Given the description of an element on the screen output the (x, y) to click on. 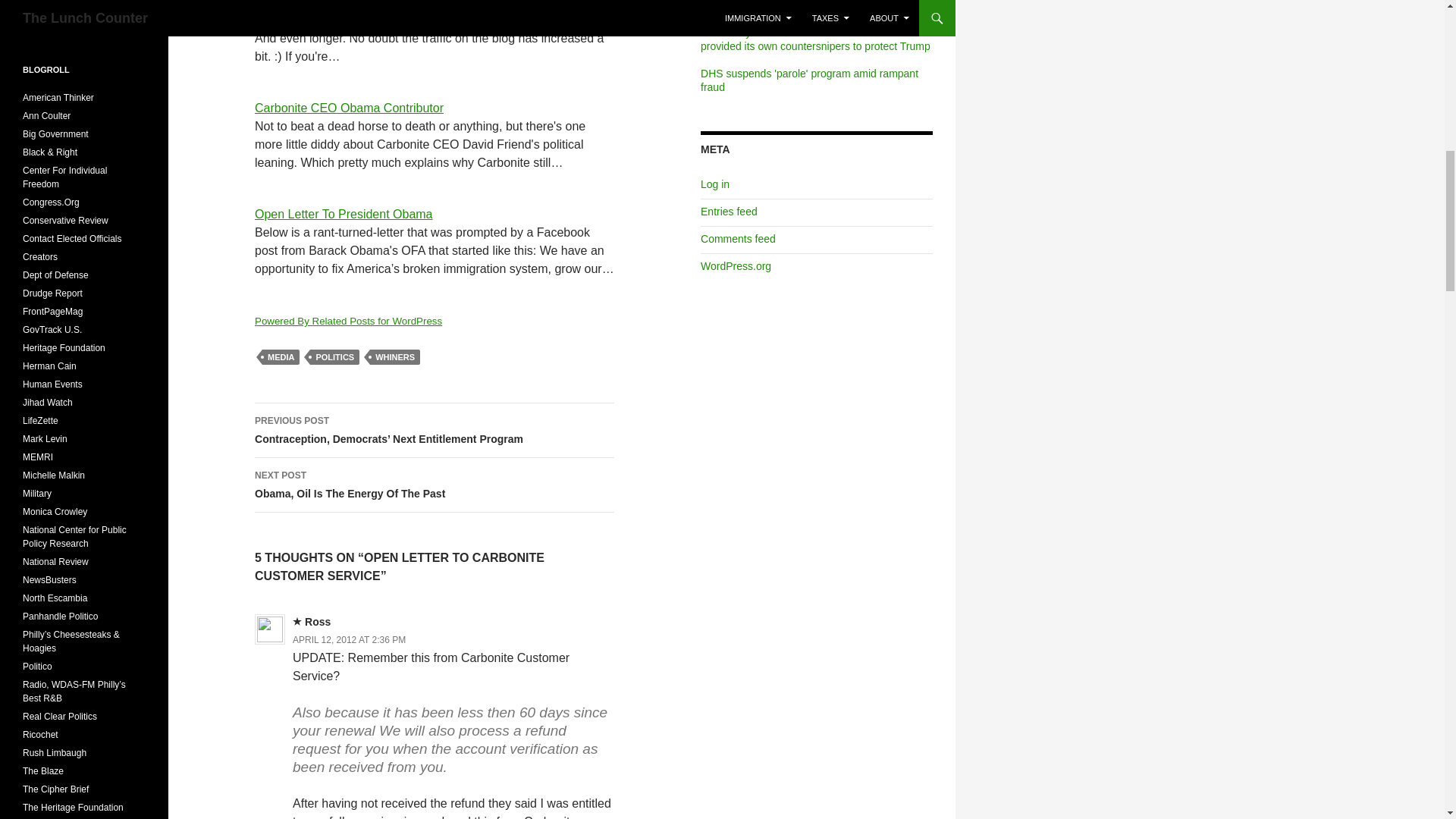
Open Letter To Sam Hall (320, 4)
Carbonite CEO Obama Contributor (349, 107)
MEDIA (280, 356)
WHINERS (394, 356)
Open Letter To President Obama (343, 214)
Syndicated columnists (40, 256)
POLITICS (334, 356)
Powered By Related Posts for WordPress (348, 320)
